Given the description of an element on the screen output the (x, y) to click on. 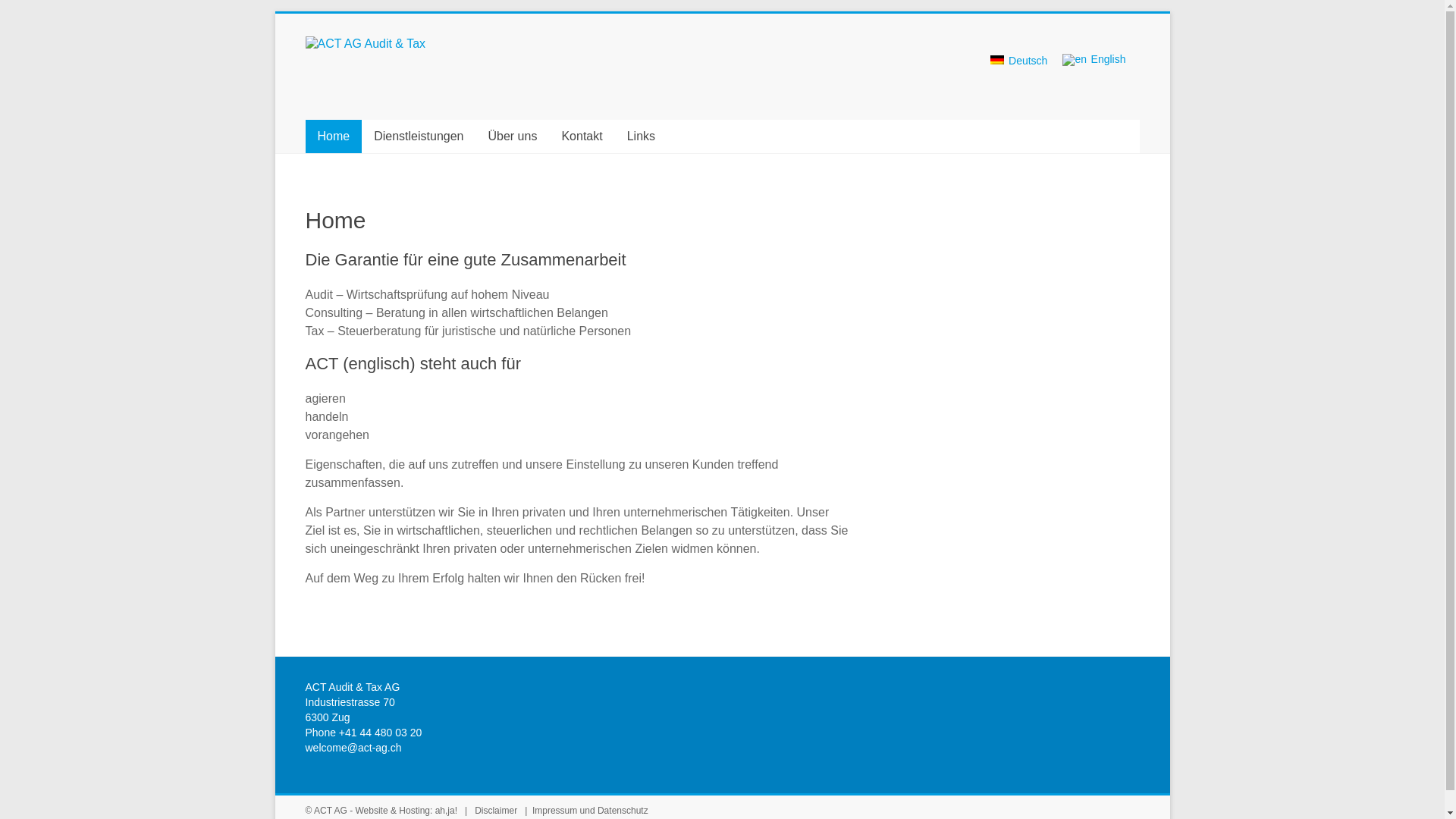
ACT AG Audit & Tax Element type: hover (364, 43)
Dienstleistungen Element type: text (418, 136)
Kontakt Element type: text (581, 136)
Disclaimer Element type: text (496, 810)
Deutsch Element type: text (1018, 66)
Website & Hosting: ah,ja! Element type: text (405, 810)
Links Element type: text (641, 136)
Impressum und Datenschutz Element type: text (590, 810)
Deutsch Element type: hover (997, 59)
English Element type: text (1093, 66)
welcome@act-ag.ch Element type: text (352, 747)
Home Element type: text (332, 136)
English Element type: hover (1074, 59)
